Given the description of an element on the screen output the (x, y) to click on. 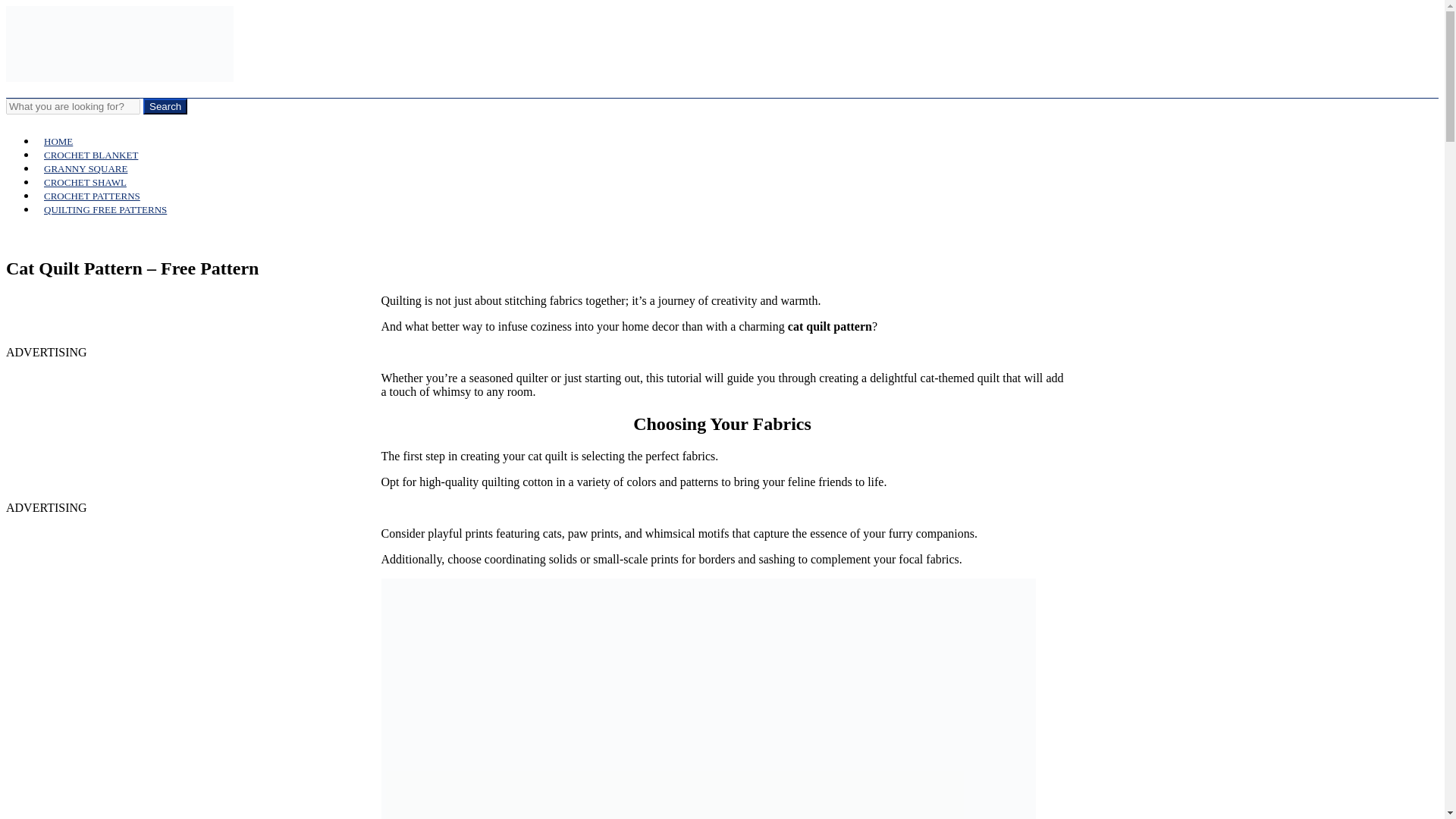
Homepage (118, 77)
CROCHET BLANKET (90, 154)
CROCHET SHAWL (84, 181)
HOME (58, 140)
GRANNY SQUARE (85, 168)
QUILTING FREE PATTERNS (105, 209)
Search (164, 106)
CROCHET PATTERNS (92, 195)
